Given the description of an element on the screen output the (x, y) to click on. 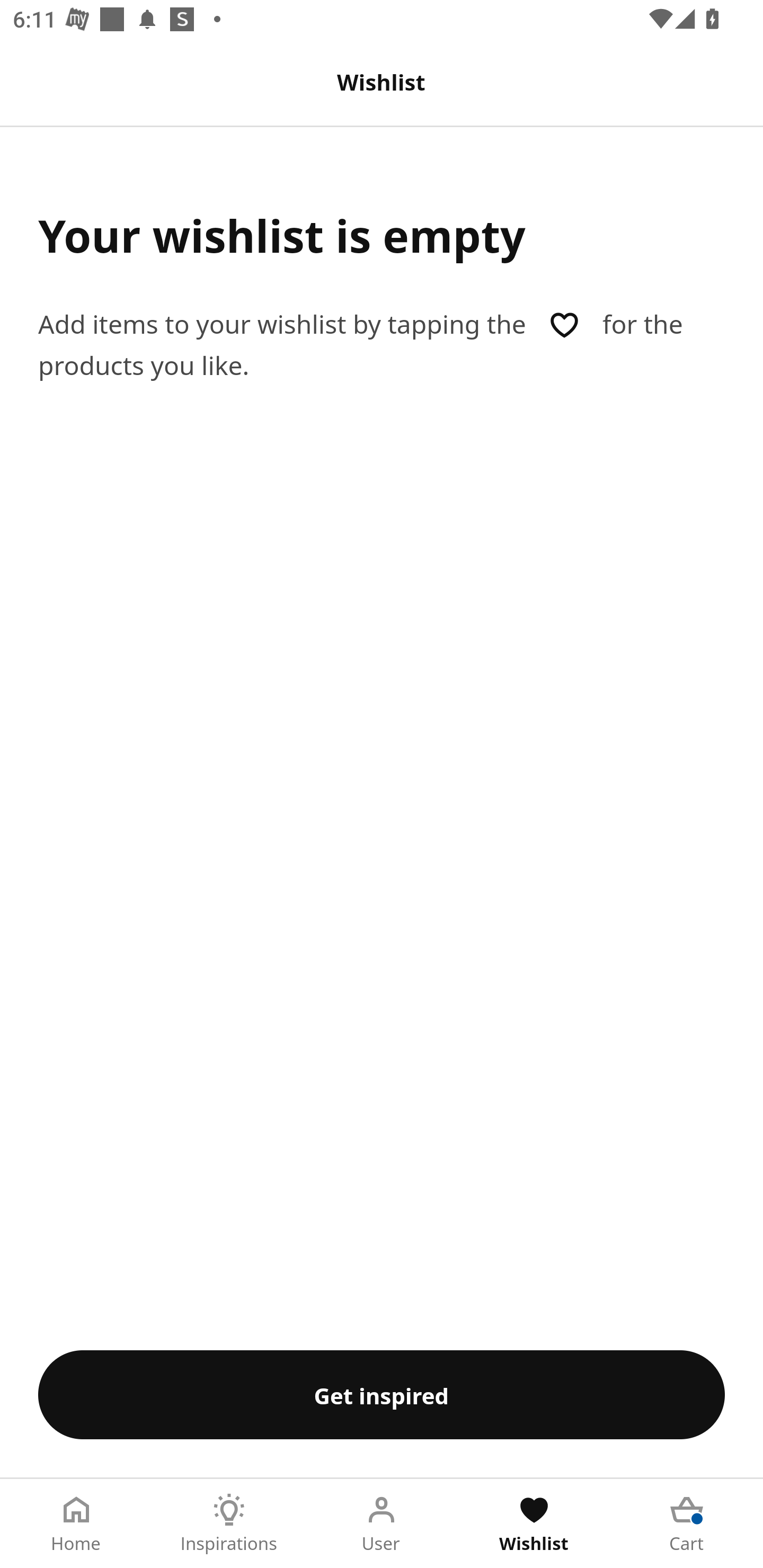
Get inspired (381, 1394)
Home
Tab 1 of 5 (76, 1522)
Inspirations
Tab 2 of 5 (228, 1522)
User
Tab 3 of 5 (381, 1522)
Wishlist
Tab 4 of 5 (533, 1522)
Cart
Tab 5 of 5 (686, 1522)
